Given the description of an element on the screen output the (x, y) to click on. 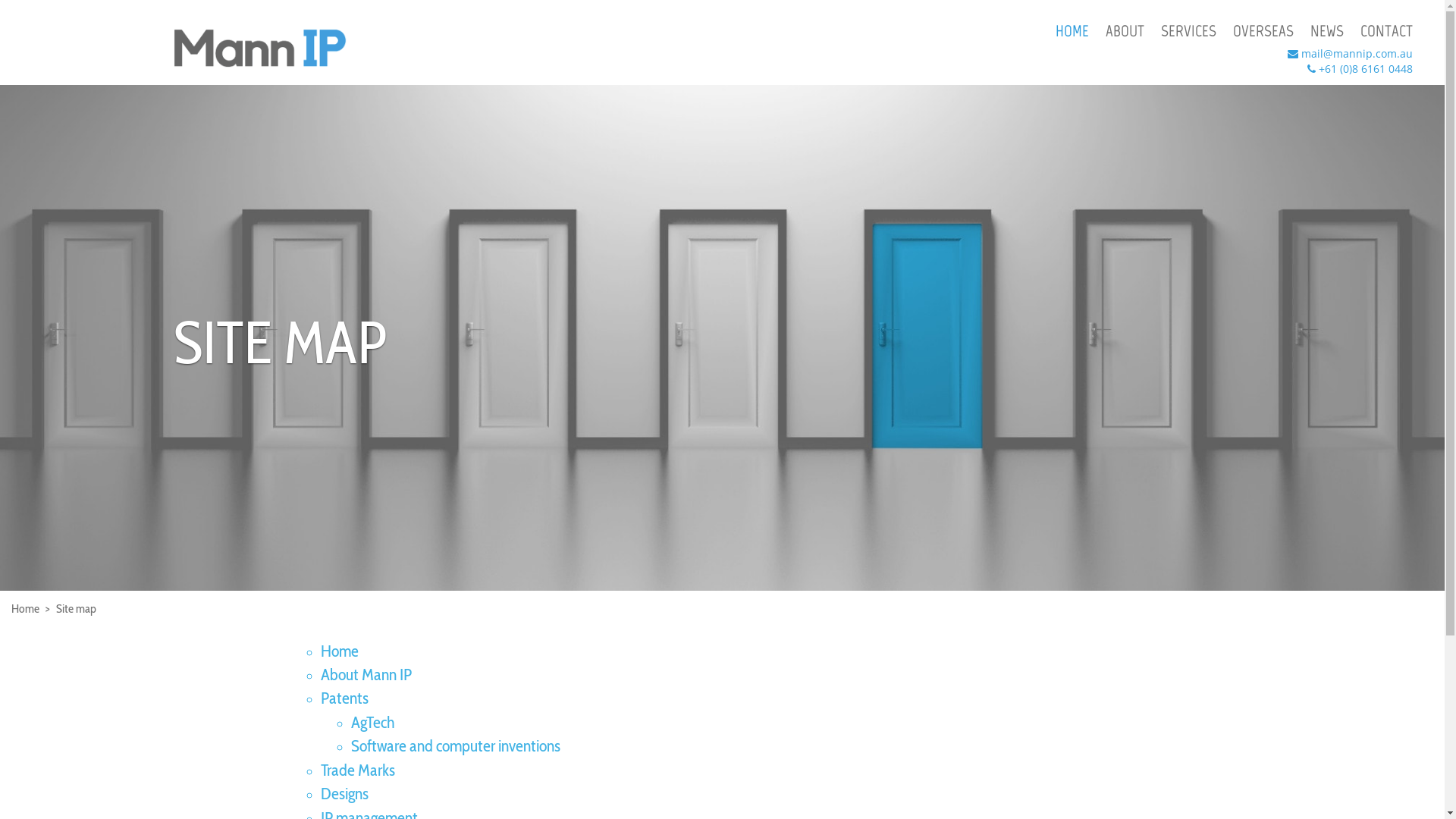
SERVICES Element type: text (1188, 30)
HOME Element type: text (1072, 30)
Home Element type: text (25, 608)
AgTech Element type: text (371, 722)
Patents Element type: text (343, 697)
OVERSEAS Element type: text (1263, 30)
Software and computer inventions Element type: text (454, 745)
+61 (0)8 6161 0448 Element type: text (1365, 68)
mail@mannip.com.au Element type: text (1356, 53)
NEWS Element type: text (1327, 30)
ABOUT Element type: text (1124, 30)
Home Element type: text (338, 650)
Trade Marks Element type: text (357, 769)
Designs Element type: text (343, 793)
CONTACT Element type: text (1386, 30)
About Mann IP Element type: text (365, 674)
